Given the description of an element on the screen output the (x, y) to click on. 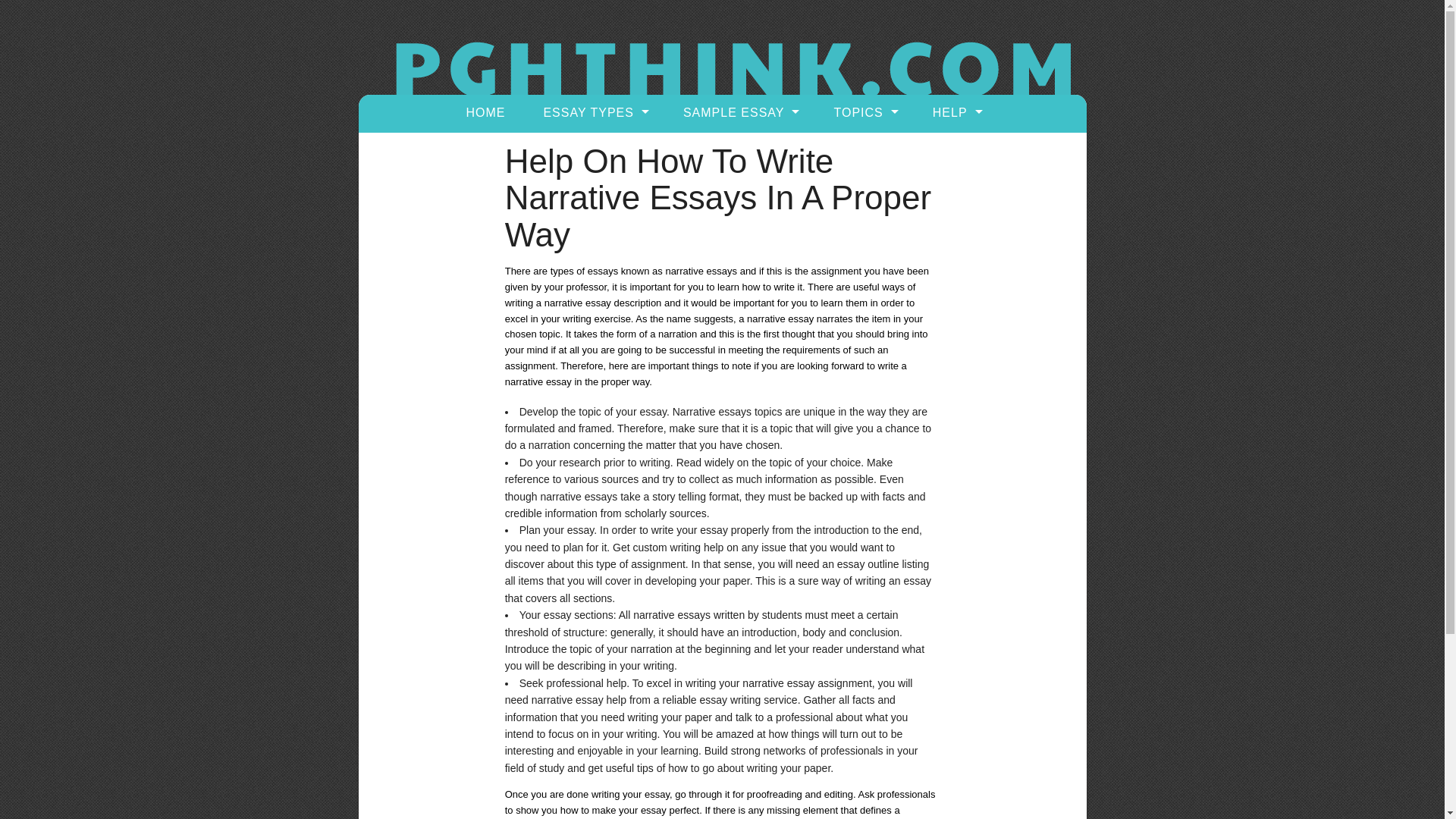
TOPICS (862, 113)
ESSAY TYPES (593, 113)
SAMPLE ESSAY (739, 113)
HELP (955, 113)
HOME (485, 113)
